Given the description of an element on the screen output the (x, y) to click on. 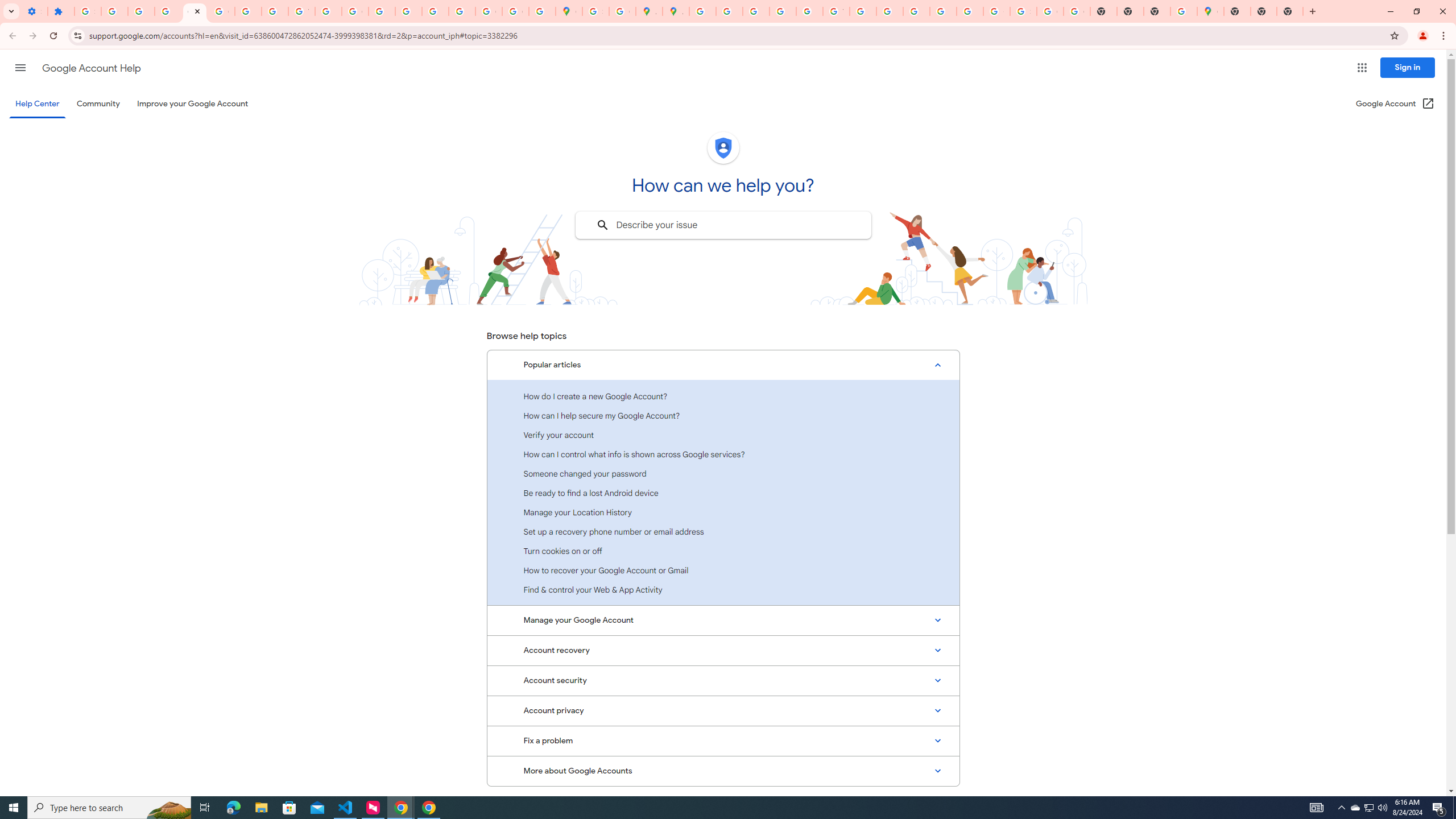
Google Maps (1210, 11)
Someone changed your password (722, 473)
How do I create a new Google Account? (722, 396)
Manage your Location History (722, 512)
